Given the description of an element on the screen output the (x, y) to click on. 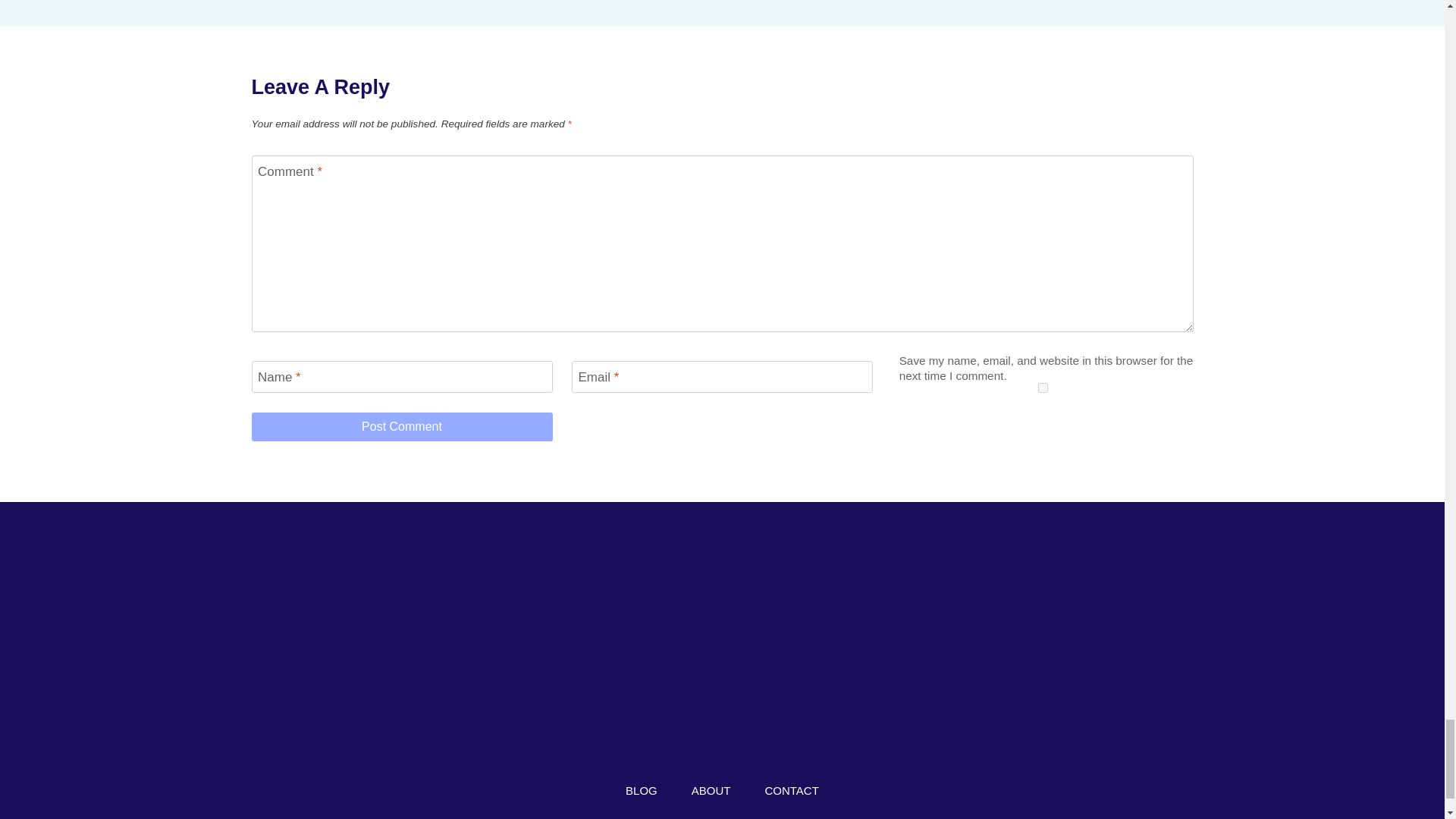
yes (1041, 388)
Post Comment (402, 426)
